Given the description of an element on the screen output the (x, y) to click on. 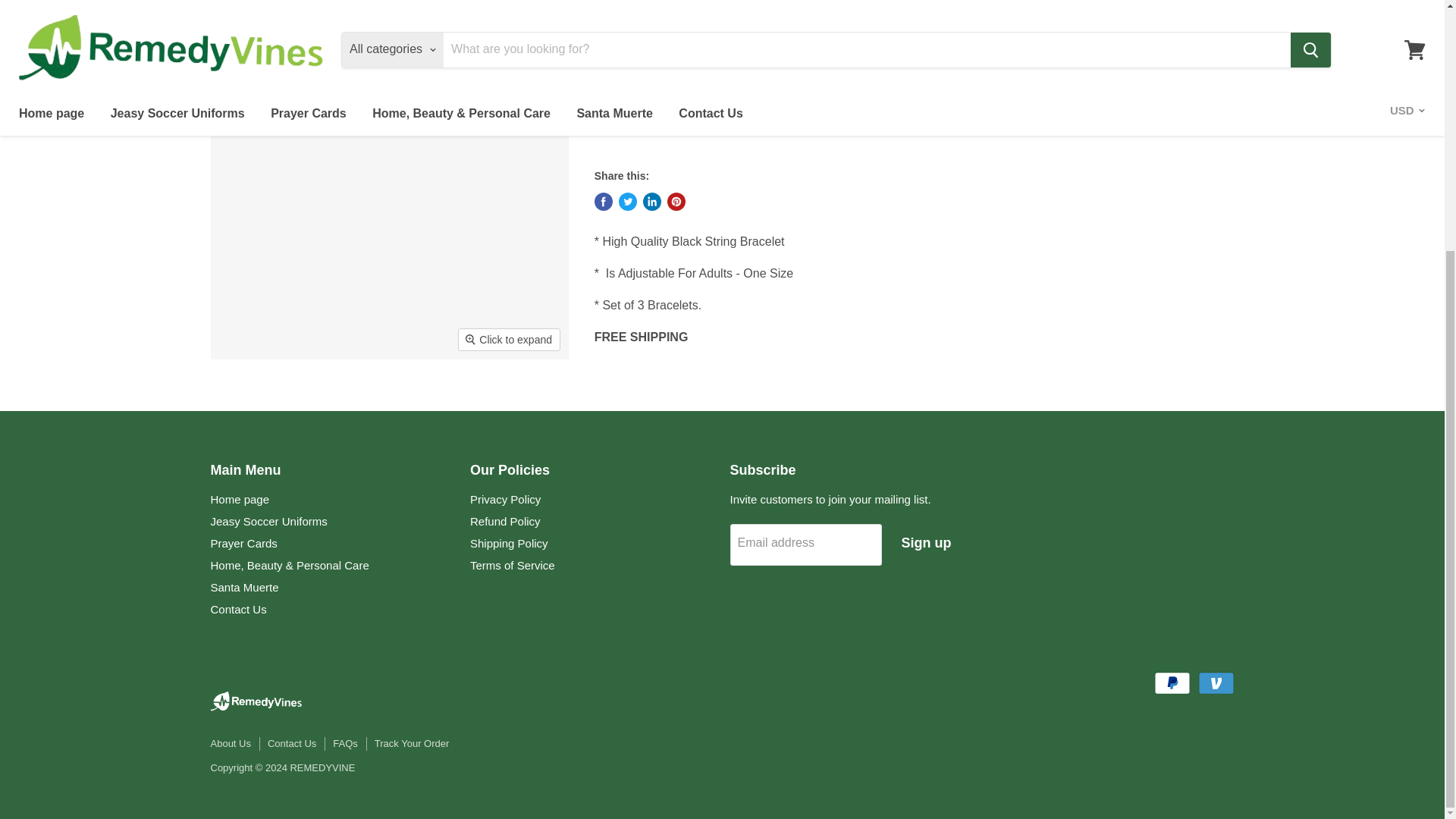
Share on Facebook (603, 201)
Pin on Pinterest (675, 201)
Add to cart (781, 56)
PayPal (1172, 681)
Click to expand (508, 339)
Share on LinkedIn (652, 201)
Venmo (1216, 681)
Tweet on Twitter (627, 201)
